Given the description of an element on the screen output the (x, y) to click on. 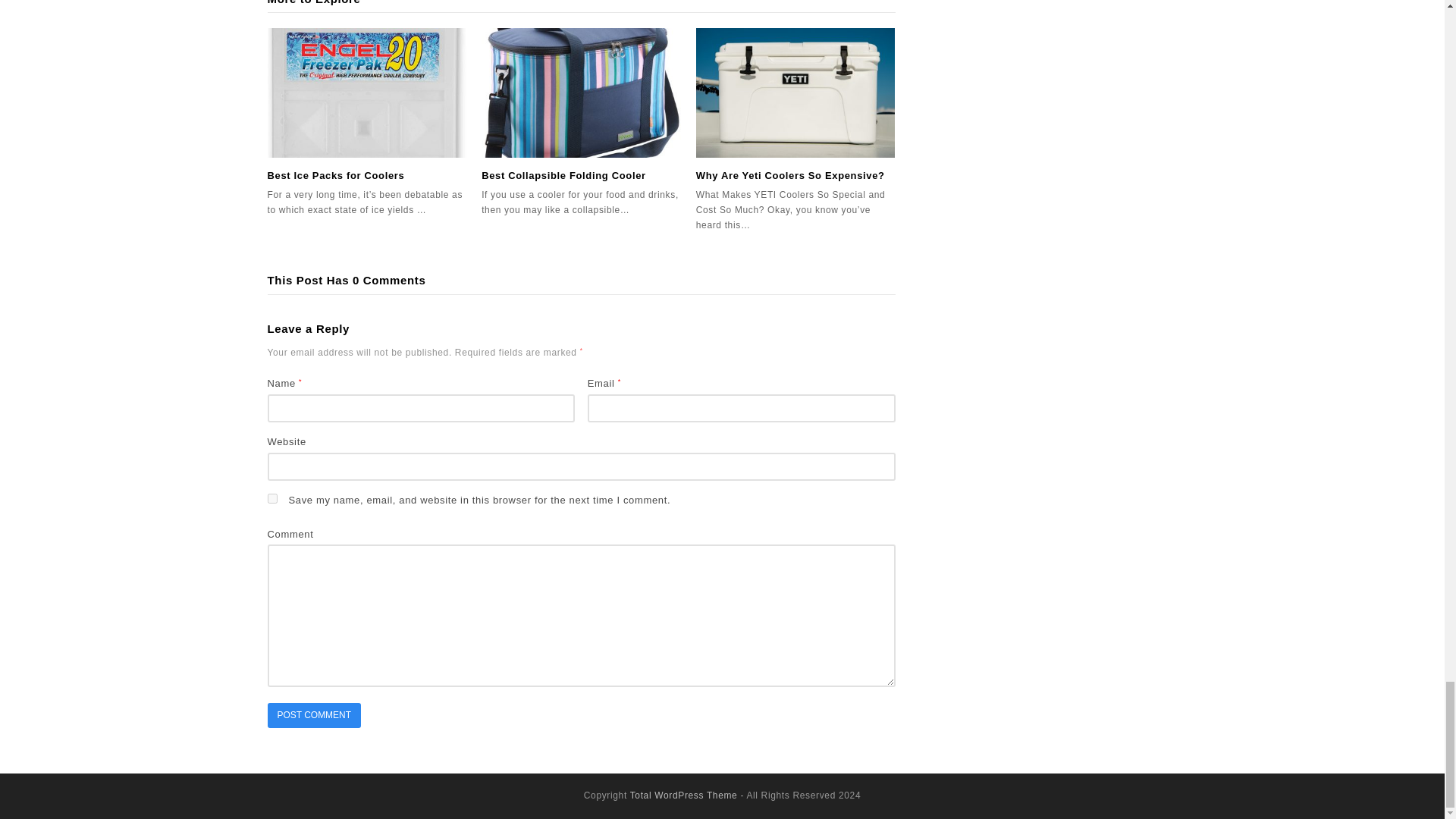
Best Ice Packs for Coolers (335, 174)
Why Are Yeti Coolers So Expensive? (795, 92)
Best Collapsible Folding Cooler (563, 174)
Best Collapsible Folding Cooler (581, 92)
Post Comment (313, 715)
Best Ice Packs for Coolers (365, 92)
Post Comment (313, 715)
Why Are Yeti Coolers So Expensive? (790, 174)
yes (271, 498)
